Given the description of an element on the screen output the (x, y) to click on. 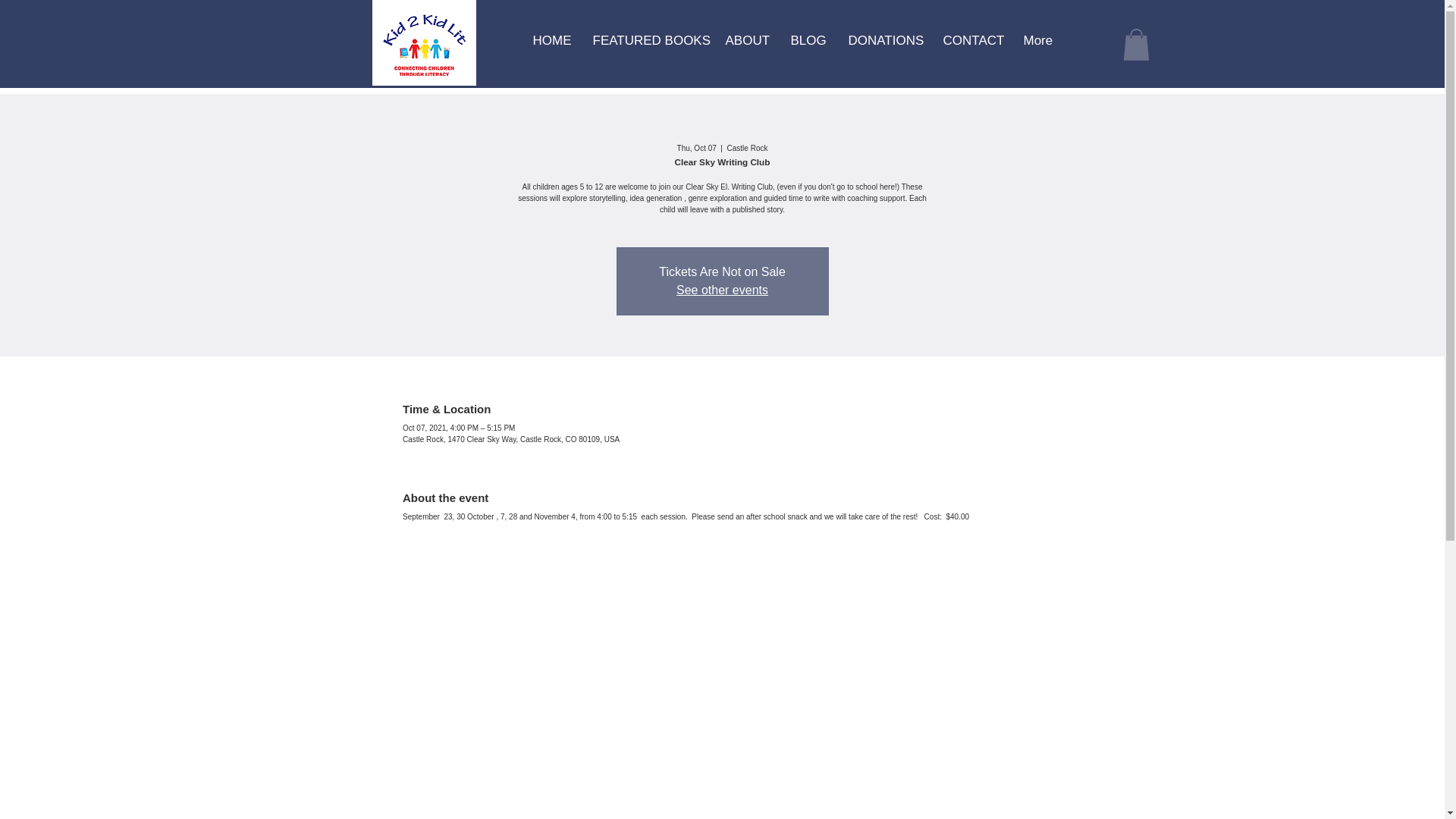
ABOUT (746, 40)
FEATURED BOOKS (646, 40)
BLOG (807, 40)
HOME (550, 40)
See other events (722, 289)
DONATIONS (884, 40)
CONTACT (971, 40)
